Given the description of an element on the screen output the (x, y) to click on. 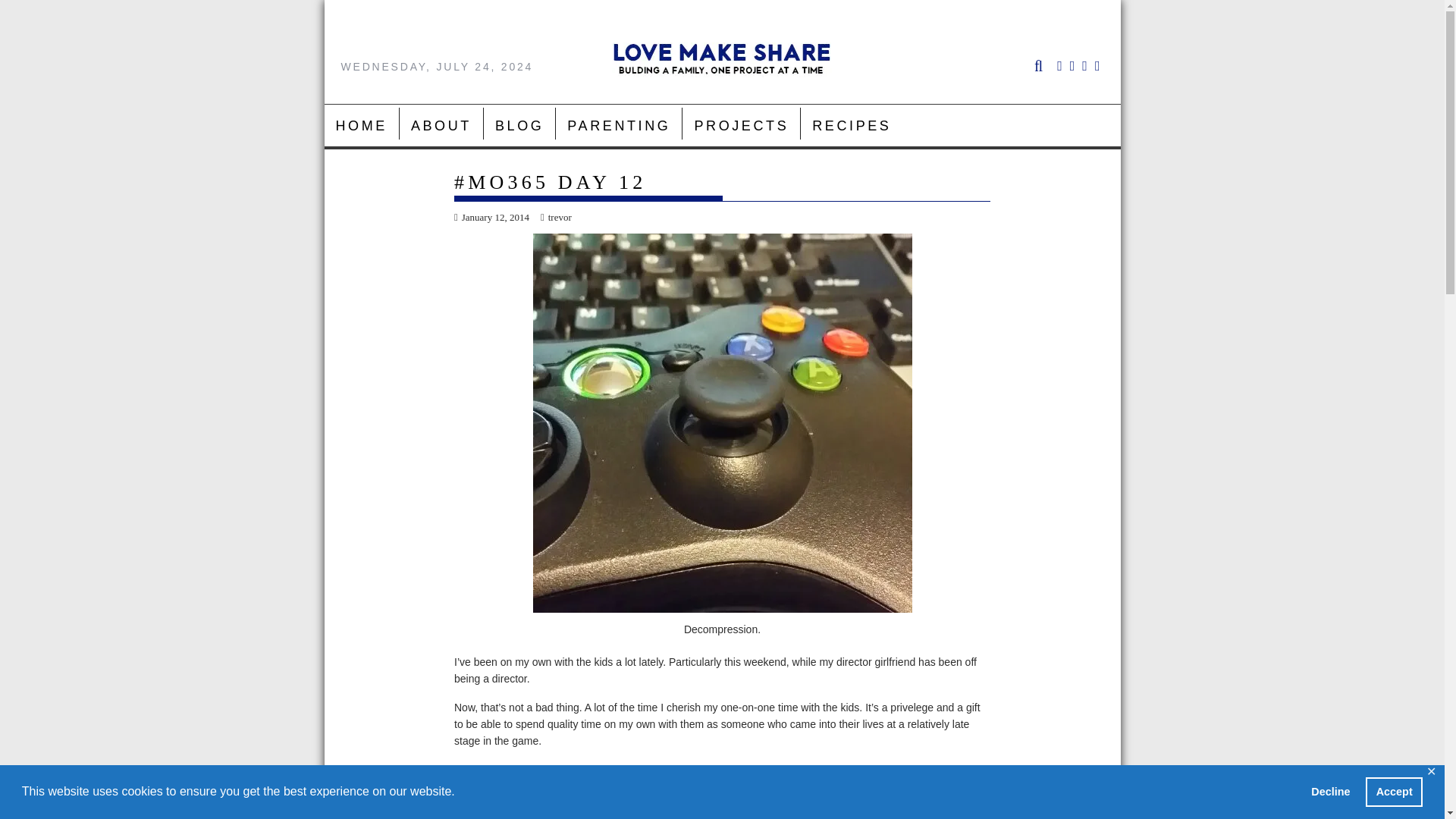
trevor (556, 216)
January 12, 2014 (491, 216)
Decline (1330, 791)
PARENTING (618, 125)
ABOUT (440, 125)
RECIPES (851, 125)
PROJECTS (740, 125)
HOME (361, 125)
BLOG (518, 125)
Accept (1393, 791)
